Given the description of an element on the screen output the (x, y) to click on. 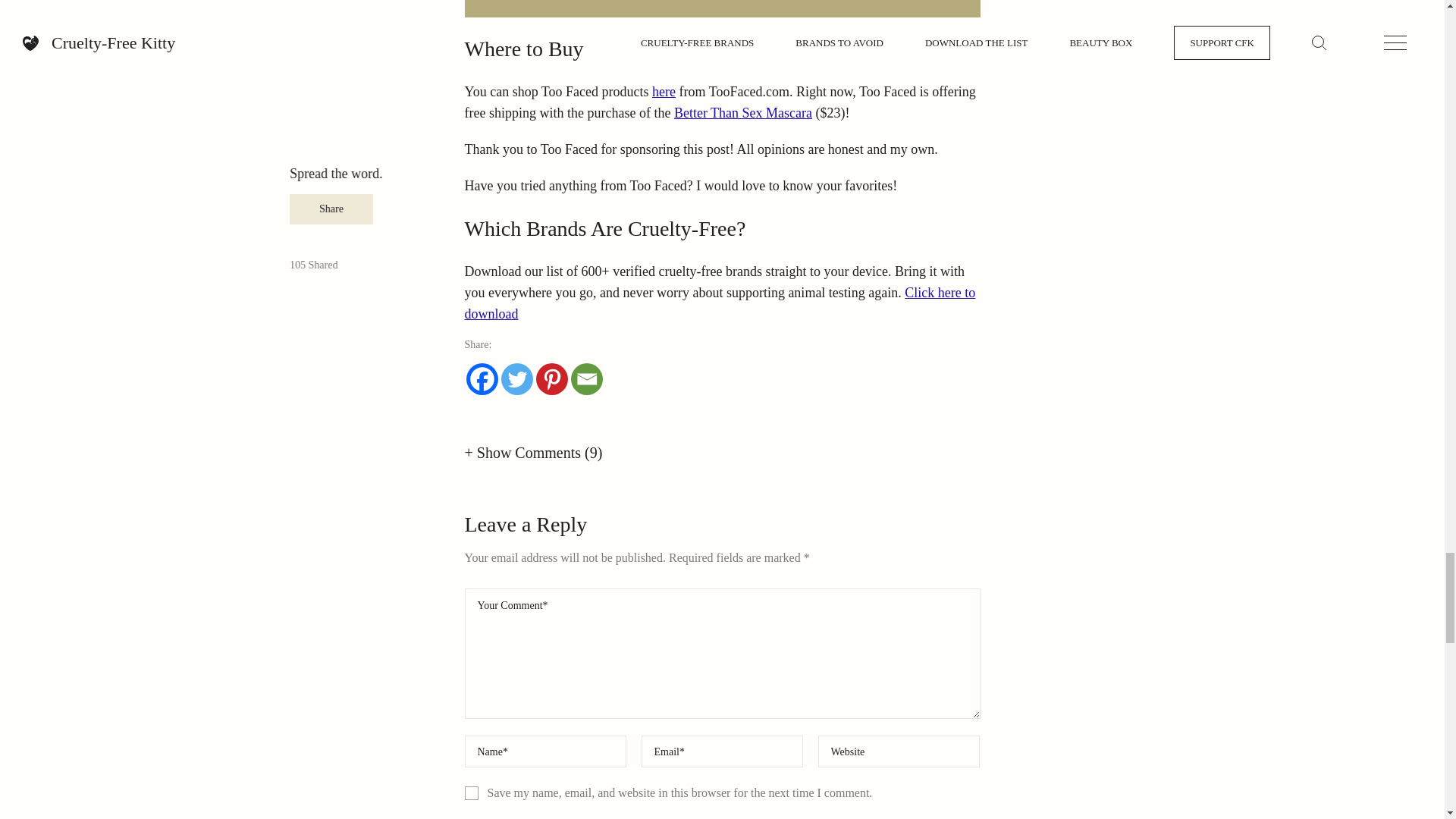
Pinterest (551, 378)
Email (586, 378)
Facebook (481, 378)
Twitter (516, 378)
